Given the description of an element on the screen output the (x, y) to click on. 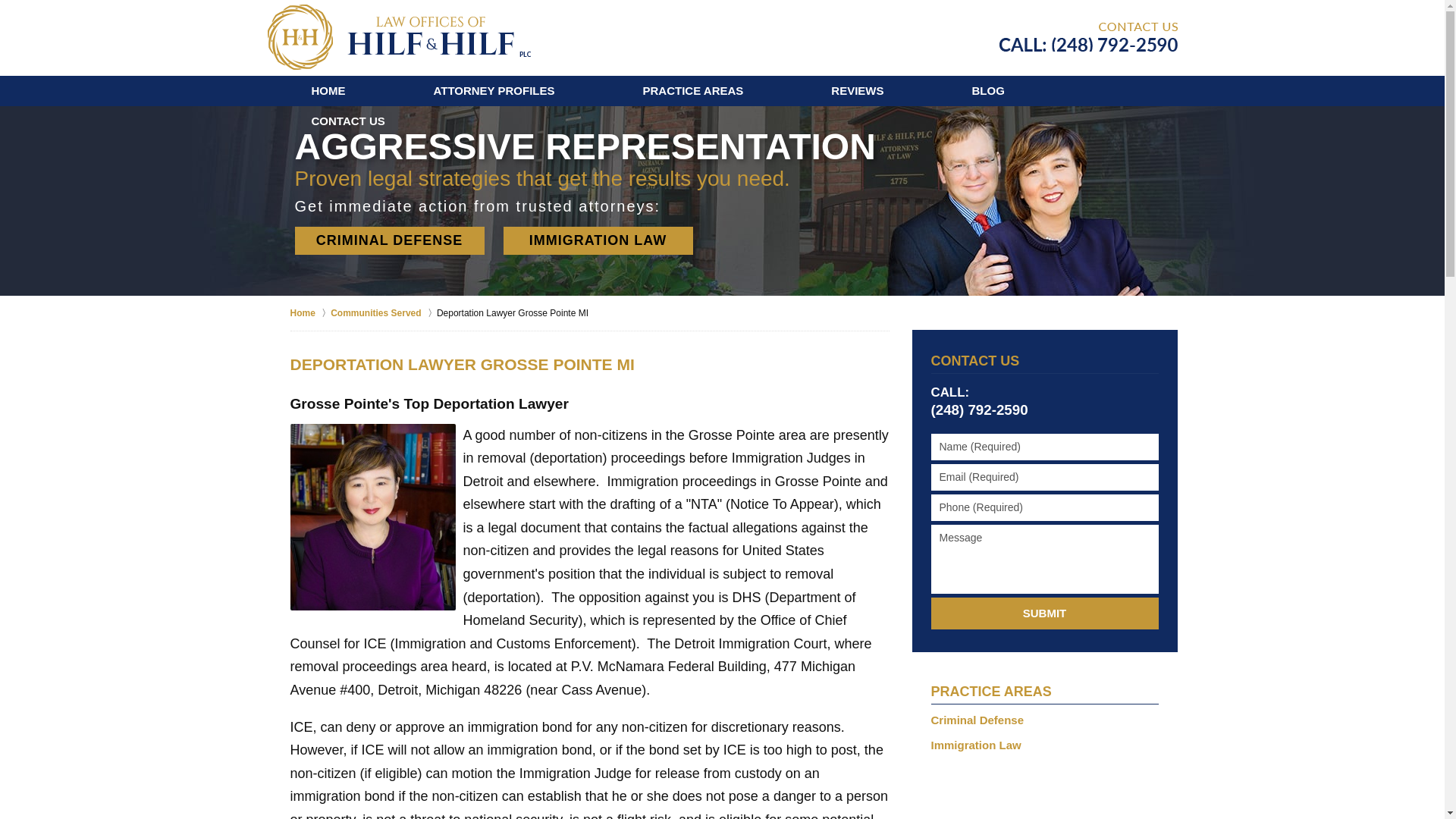
SUBMIT (1044, 613)
Communities Served (383, 313)
PRACTICE AREAS (991, 691)
CRIMINAL DEFENSE (388, 240)
CONTACT US (347, 121)
Immigration Law (1044, 744)
PRACTICE AREAS (692, 91)
Criminal Defense (1044, 719)
Back to Home (397, 36)
ATTORNEY PROFILES (494, 91)
BLOG (988, 91)
CONTACT US (975, 360)
REVIEWS (857, 91)
IMMIGRATION LAW (598, 240)
Home (309, 313)
